Given the description of an element on the screen output the (x, y) to click on. 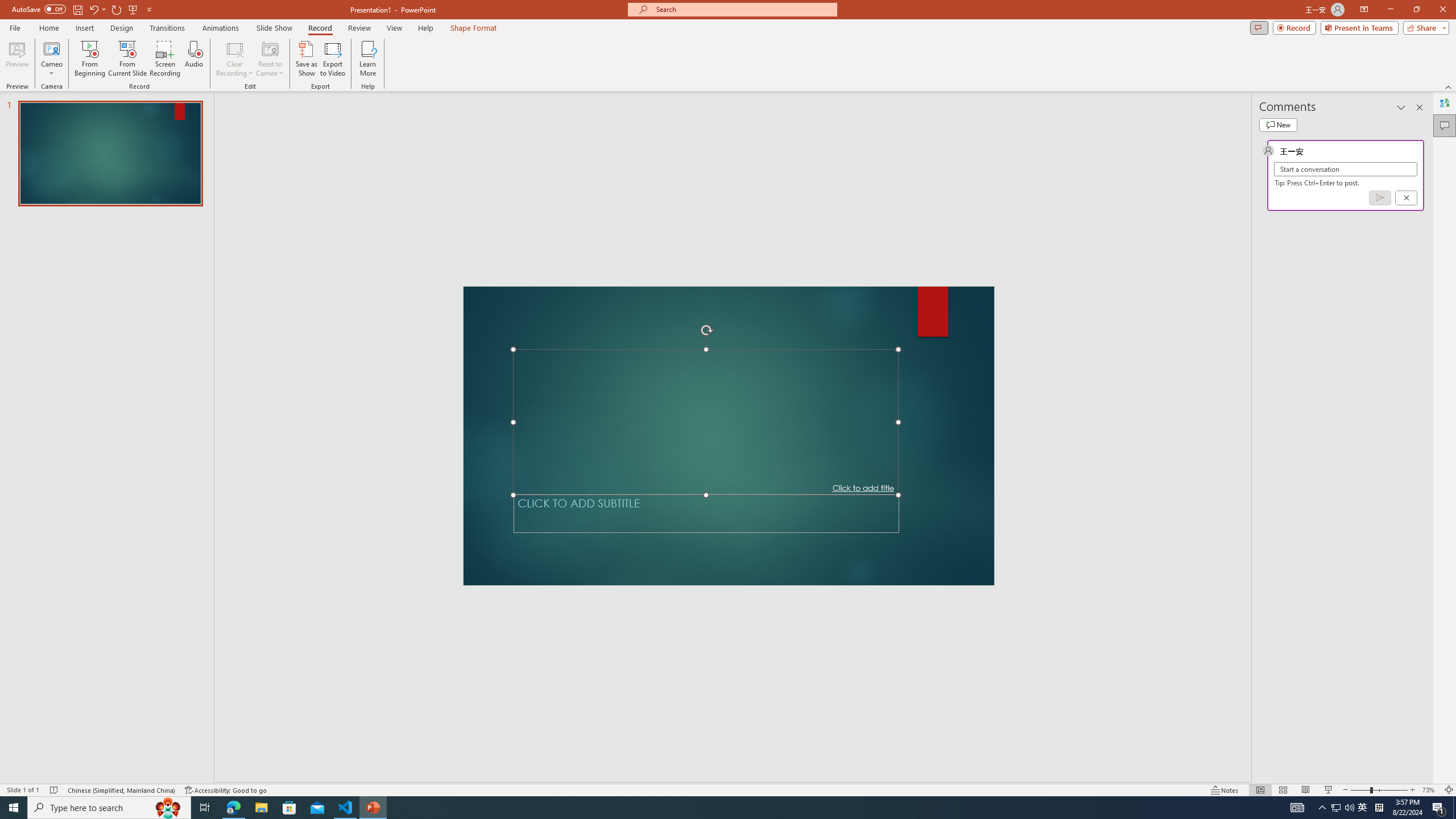
Start a conversation (1344, 168)
From Current Slide... (127, 58)
Audio (193, 58)
